Given the description of an element on the screen output the (x, y) to click on. 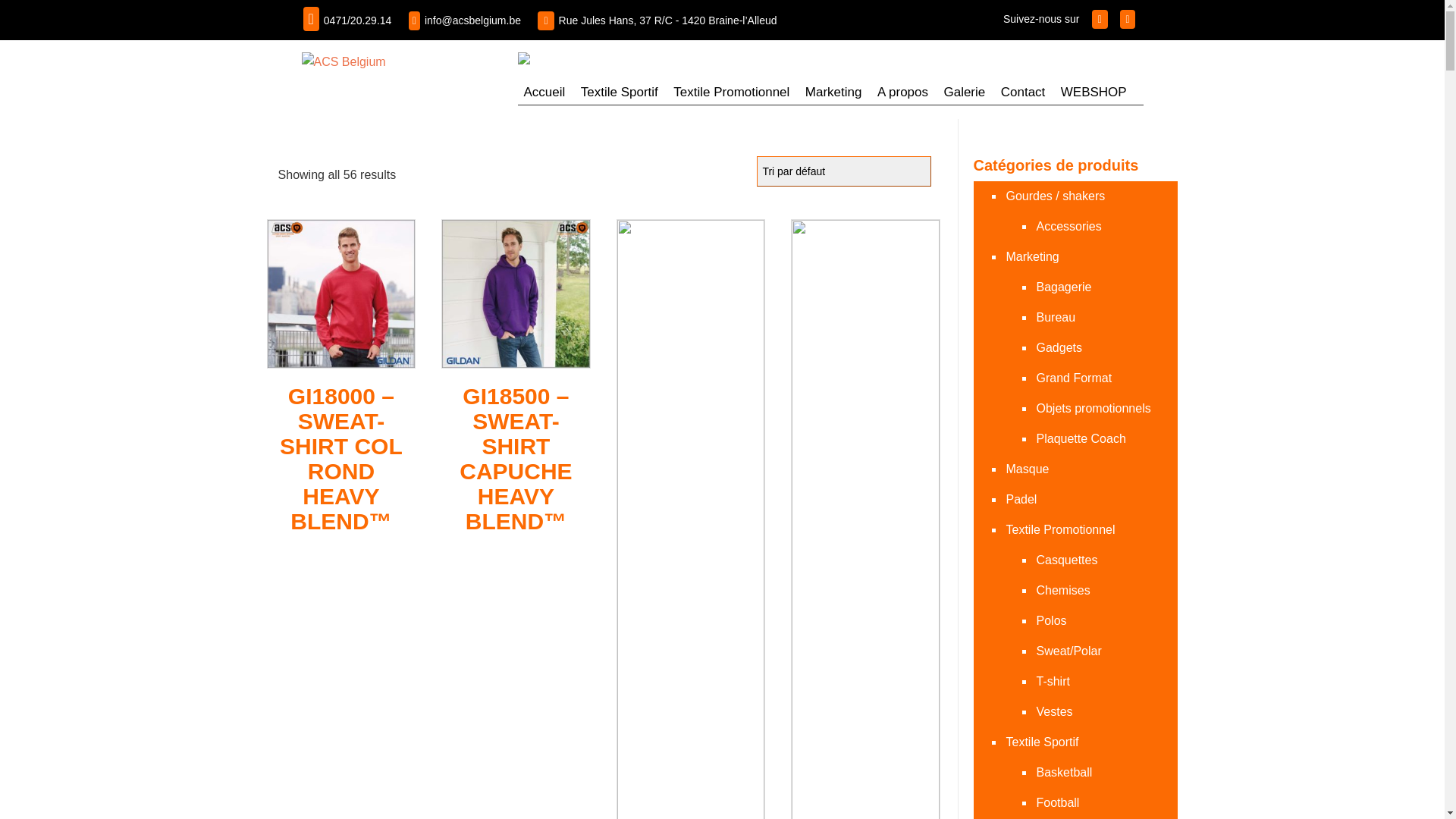
Gadgets Element type: text (1058, 347)
Masque Element type: text (1026, 469)
Plaquette Coach Element type: text (1080, 438)
Grand Format Element type: text (1073, 378)
Chemises Element type: text (1062, 590)
Bureau Element type: text (1055, 317)
Bagagerie Element type: text (1063, 287)
info@acsbelgium.be Element type: text (472, 20)
WEBSHOP Element type: text (1093, 91)
Polos Element type: text (1050, 620)
Sweat/Polar Element type: text (1067, 651)
Contact Element type: text (1022, 91)
Objets promotionnels Element type: text (1092, 408)
Marketing Element type: text (1031, 256)
Casquettes Element type: text (1066, 560)
Textile Sportif Element type: text (1041, 742)
Basketball Element type: text (1063, 772)
Gourdes / shakers Element type: text (1054, 196)
Textile Promotionnel Element type: text (1059, 529)
Textile Promotionnel Element type: text (731, 91)
Padel Element type: text (1020, 499)
Accessories Element type: text (1067, 226)
Marketing Element type: text (833, 91)
Accueil Element type: text (544, 91)
T-shirt Element type: text (1052, 681)
Textile Sportif Element type: text (619, 91)
Vestes Element type: text (1053, 711)
Galerie Element type: text (964, 91)
Football Element type: text (1056, 802)
A propos Element type: text (902, 91)
0471/20.29.14 Element type: text (357, 20)
